Given the description of an element on the screen output the (x, y) to click on. 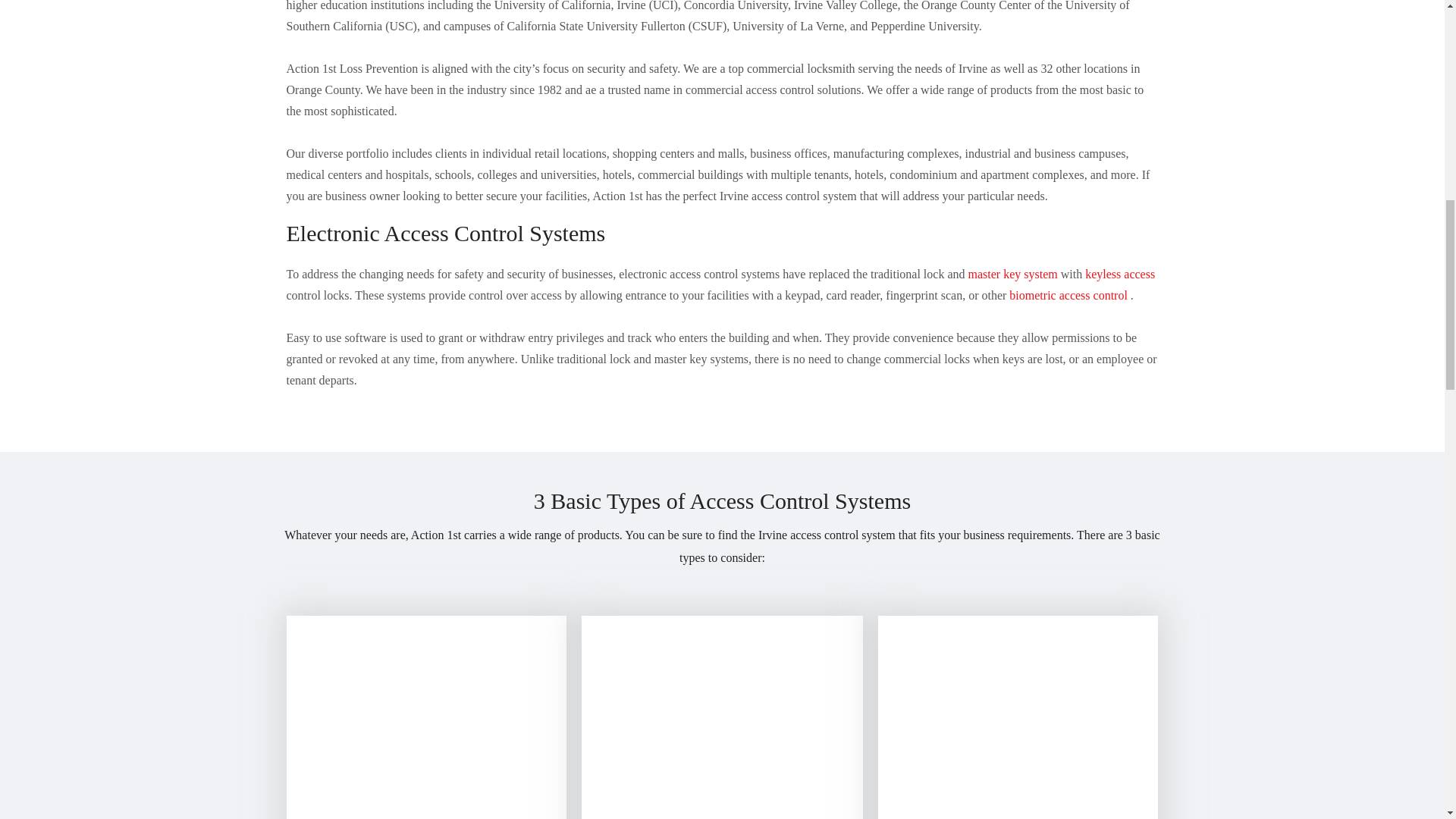
biometric access control (1070, 295)
keyless access (1119, 273)
master key system (1013, 273)
